Given the description of an element on the screen output the (x, y) to click on. 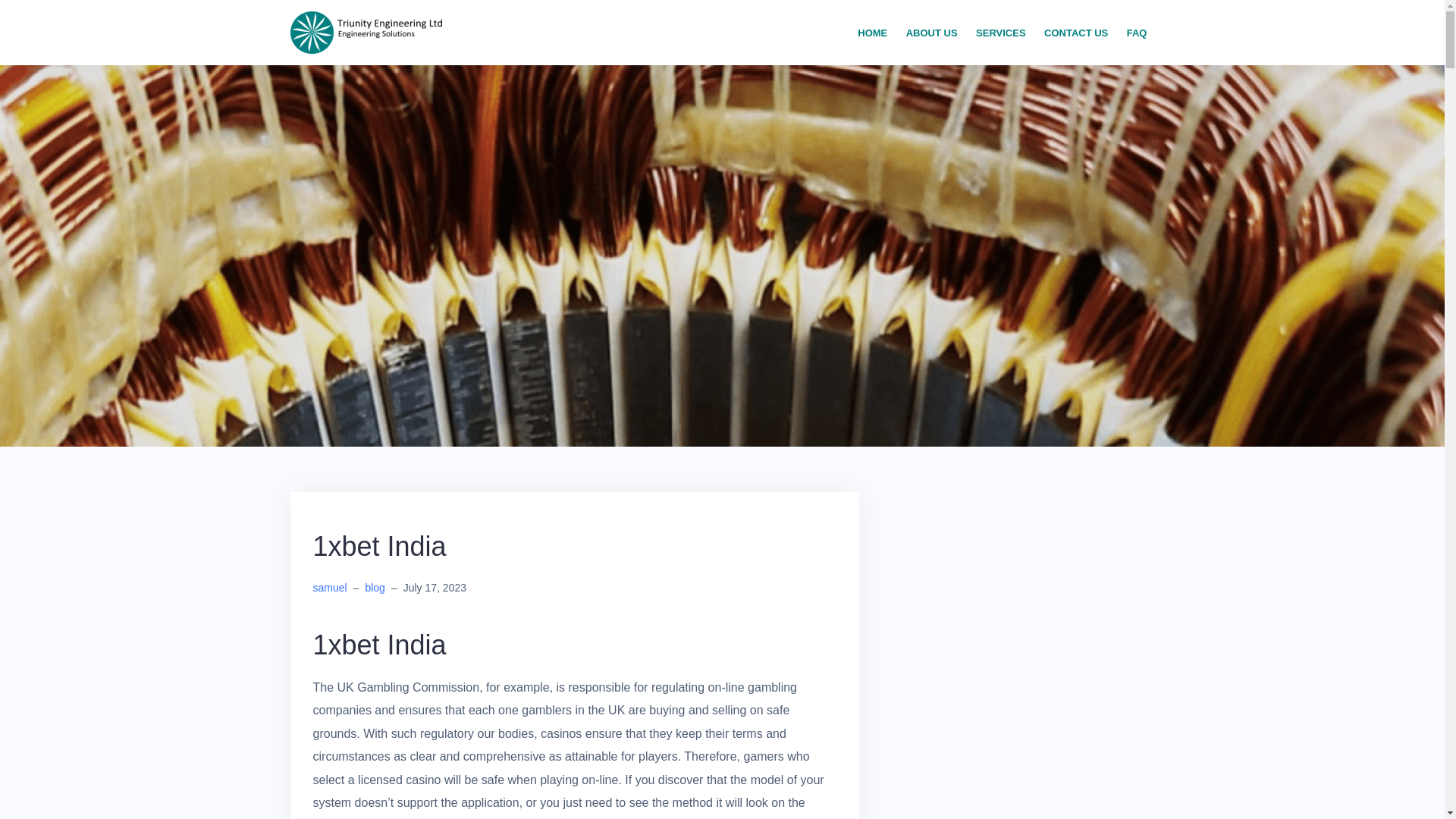
samuel (329, 587)
HOME (871, 33)
FAQ (1136, 33)
CONTACT US (1075, 33)
ABOUT US (931, 33)
SERVICES (1000, 33)
blog (374, 587)
